Given the description of an element on the screen output the (x, y) to click on. 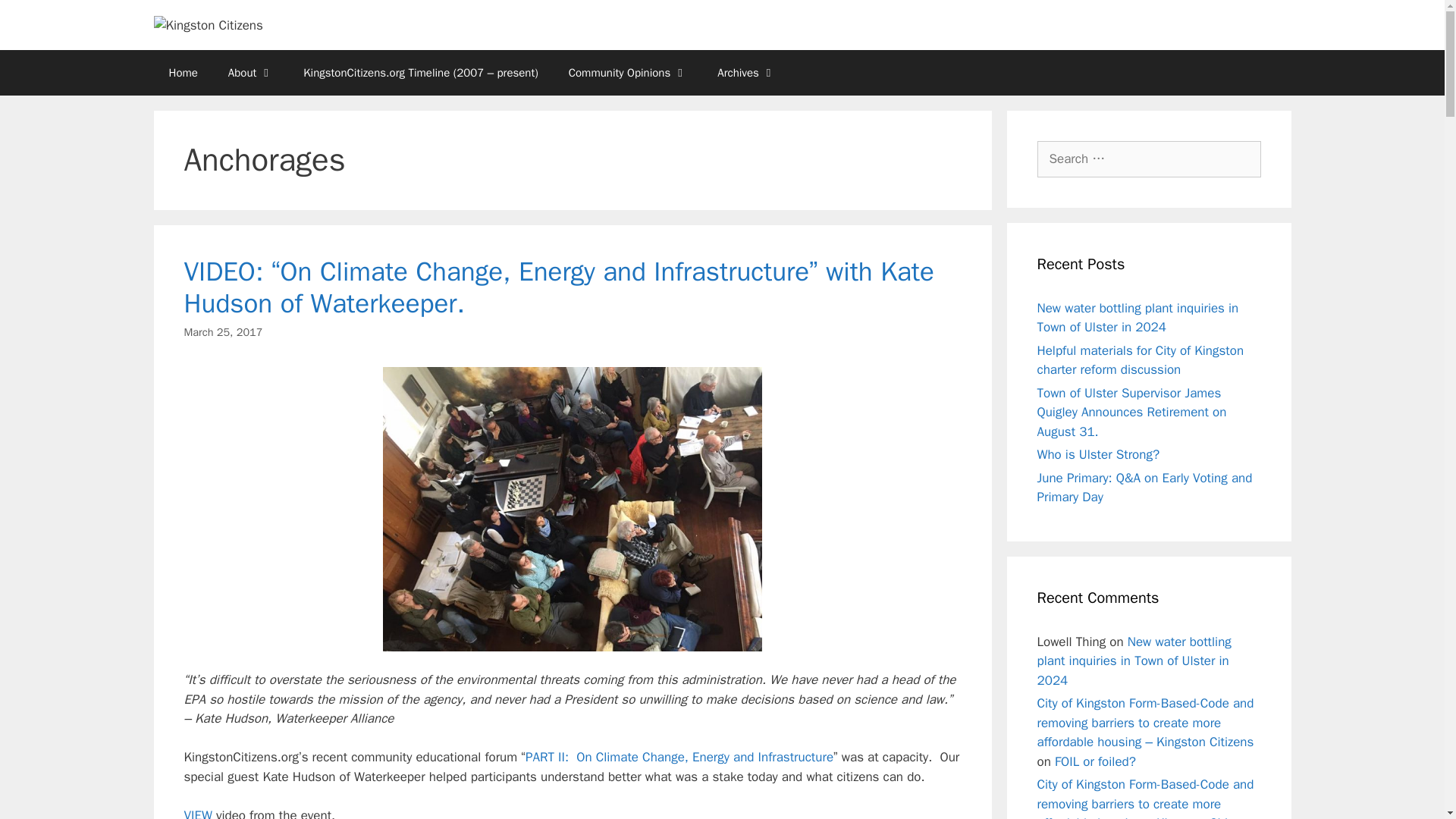
Home (182, 72)
About (250, 72)
Community Opinions (628, 72)
Search for: (1148, 158)
